Given the description of an element on the screen output the (x, y) to click on. 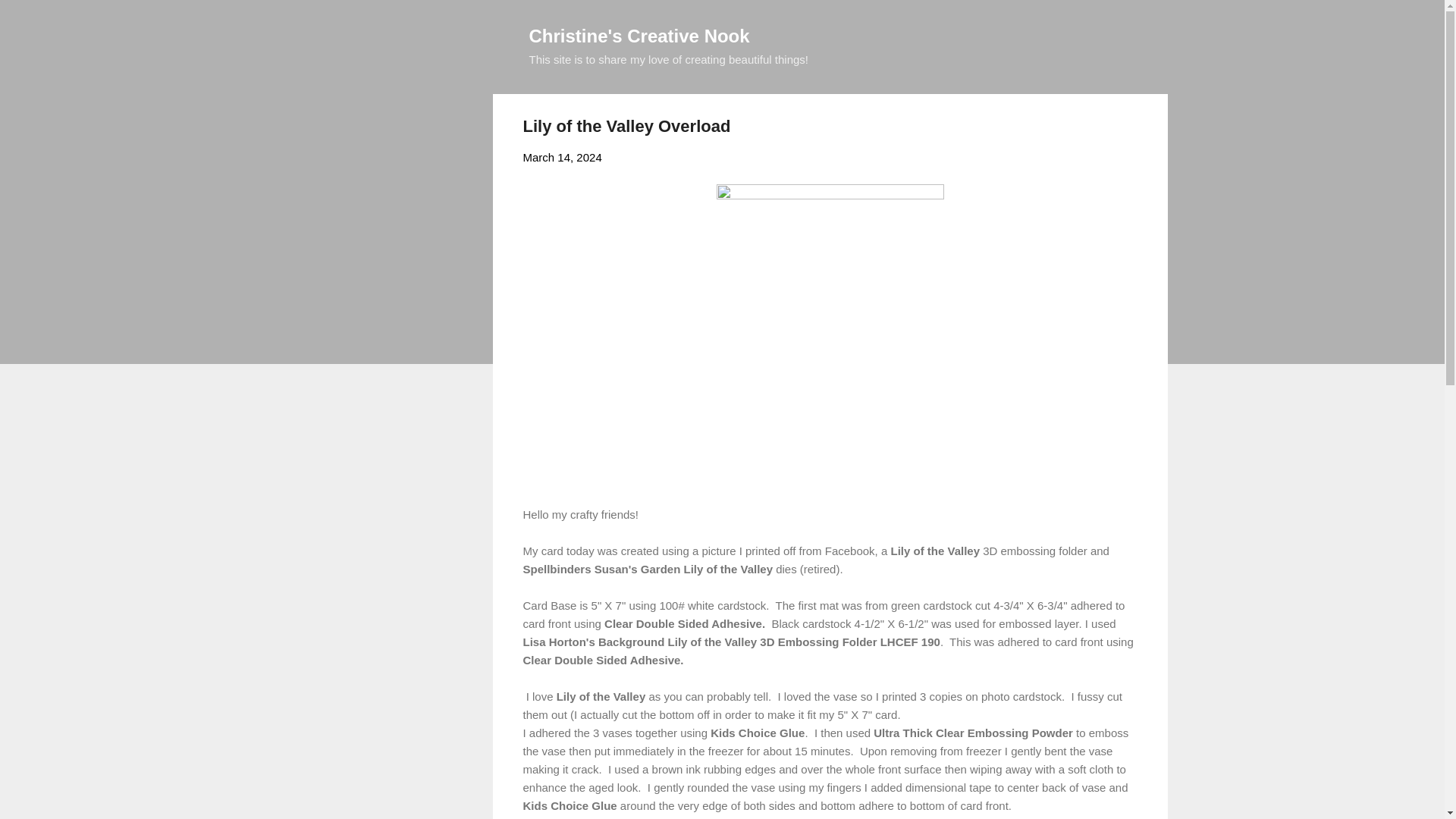
permanent link (562, 156)
Christine's Creative Nook (639, 35)
Search (29, 18)
March 14, 2024 (562, 156)
